Given the description of an element on the screen output the (x, y) to click on. 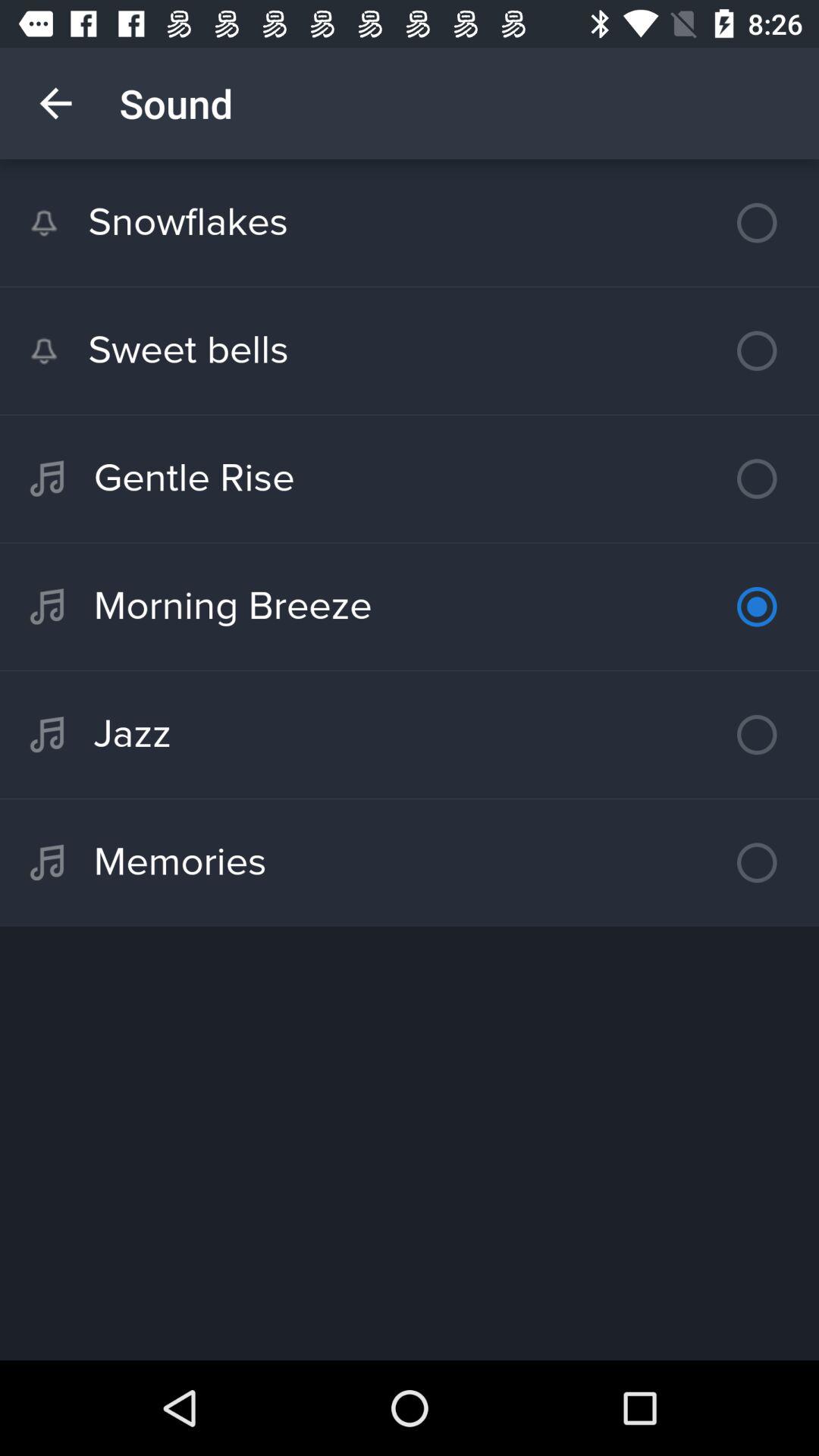
press the item above gentle rise item (409, 350)
